Given the description of an element on the screen output the (x, y) to click on. 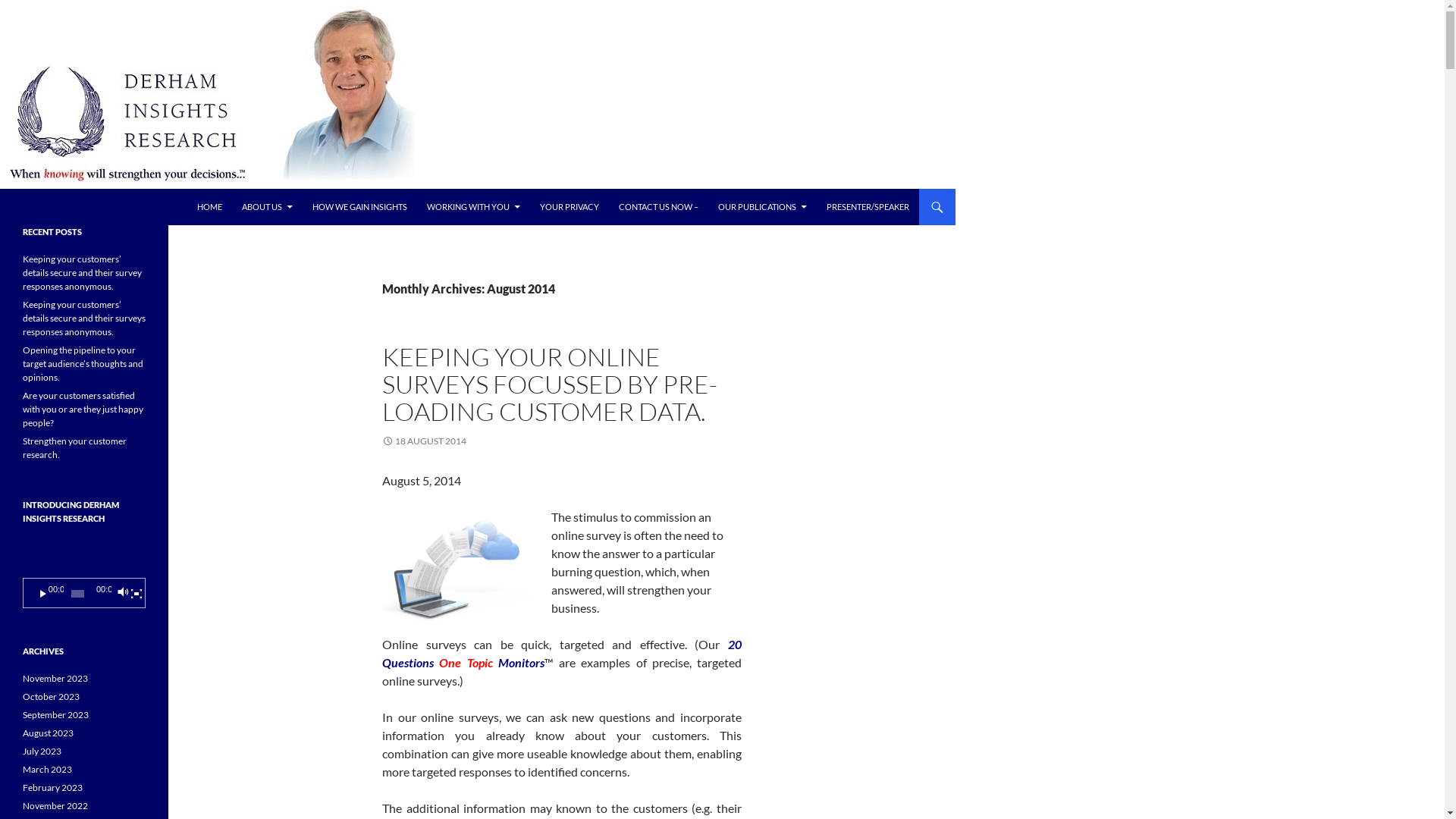
WORKING WITH YOU Element type: text (473, 206)
SKIP TO CONTENT Element type: text (196, 188)
Mute Element type: hover (122, 593)
YOUR PRIVACY Element type: text (569, 206)
18 AUGUST 2014 Element type: text (424, 440)
July 2023 Element type: text (41, 750)
HOME Element type: text (209, 206)
Strengthen your customer research. Element type: text (74, 447)
September 2023 Element type: text (55, 714)
February 2023 Element type: text (52, 787)
November 2022 Element type: text (54, 805)
November 2023 Element type: text (54, 678)
Derham Insights Research Element type: text (101, 206)
OUR PUBLICATIONS Element type: text (762, 206)
August 2023 Element type: text (47, 732)
March 2023 Element type: text (47, 769)
Fullscreen Element type: hover (136, 593)
ABOUT US Element type: text (266, 206)
PRESENTER/SPEAKER Element type: text (867, 206)
October 2023 Element type: text (50, 696)
HOW WE GAIN INSIGHTS Element type: text (359, 206)
Search Element type: text (3, 188)
Play Element type: hover (42, 593)
